Given the description of an element on the screen output the (x, y) to click on. 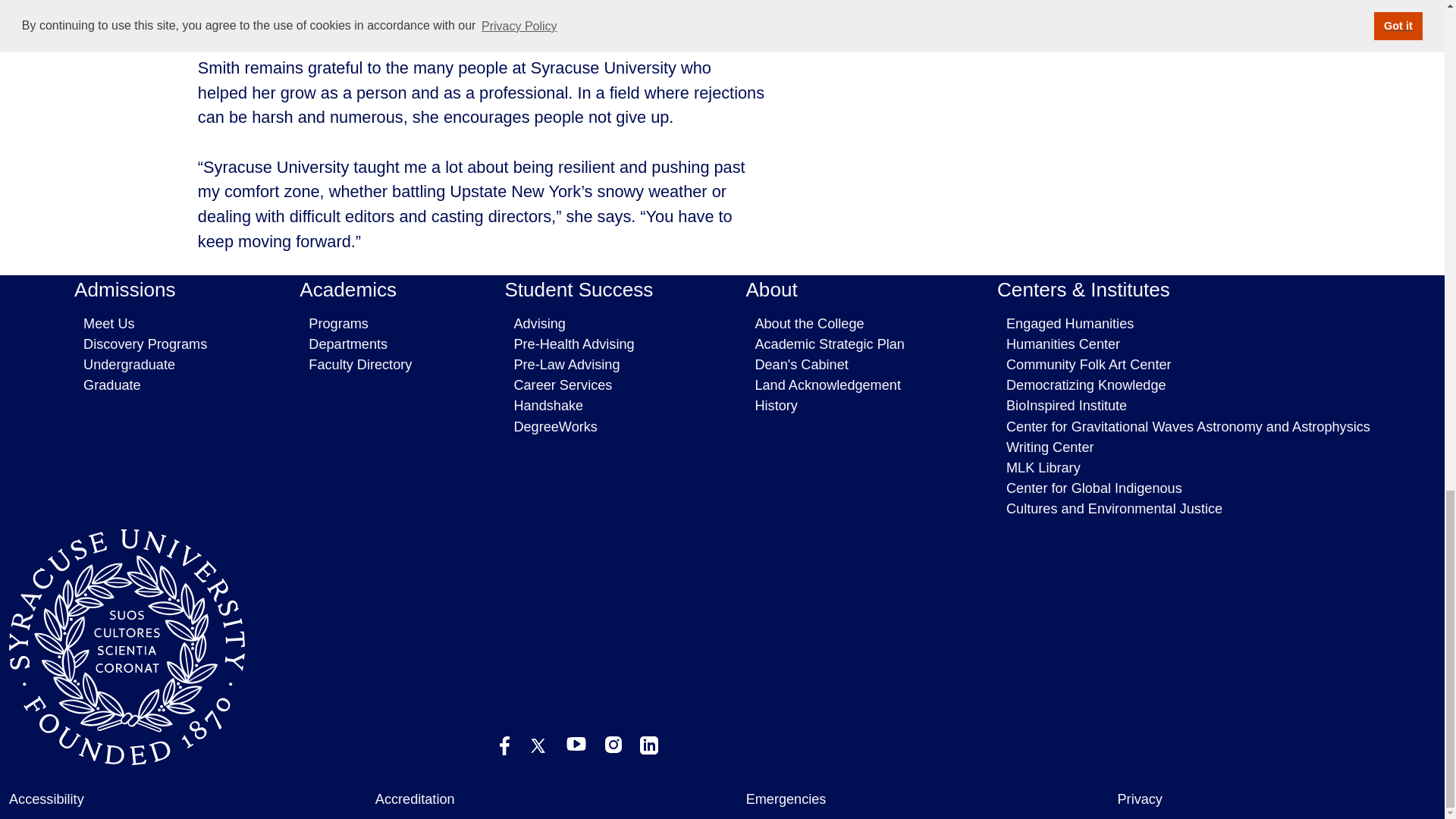
Subscribe to Arts and Sciences on YouTube (576, 744)
Connect with Arts and Sciences on LinkedIn (649, 745)
Follow Arts and Sciences on Instagram (613, 744)
